Given the description of an element on the screen output the (x, y) to click on. 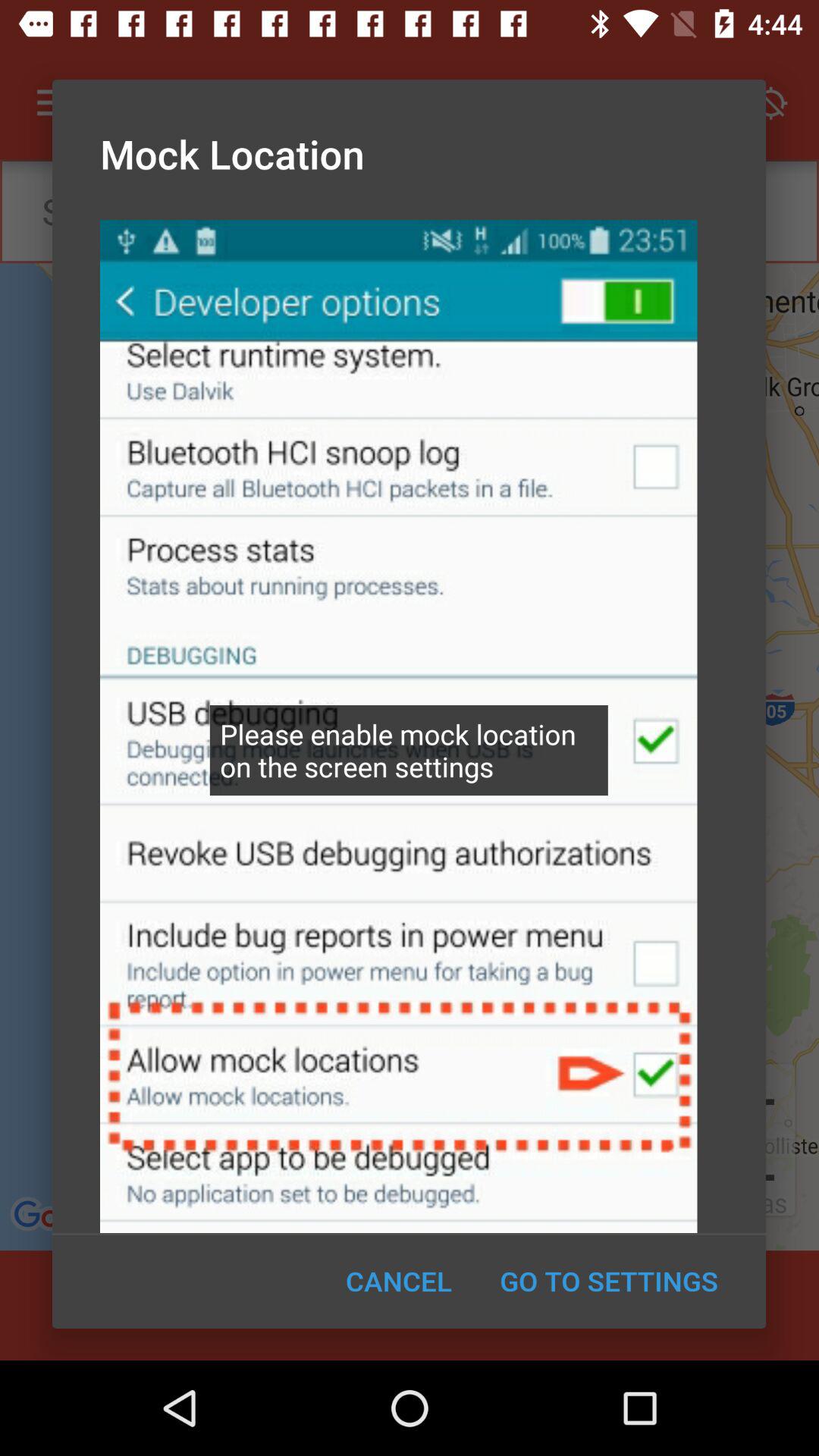
tap item at the bottom (398, 1280)
